Given the description of an element on the screen output the (x, y) to click on. 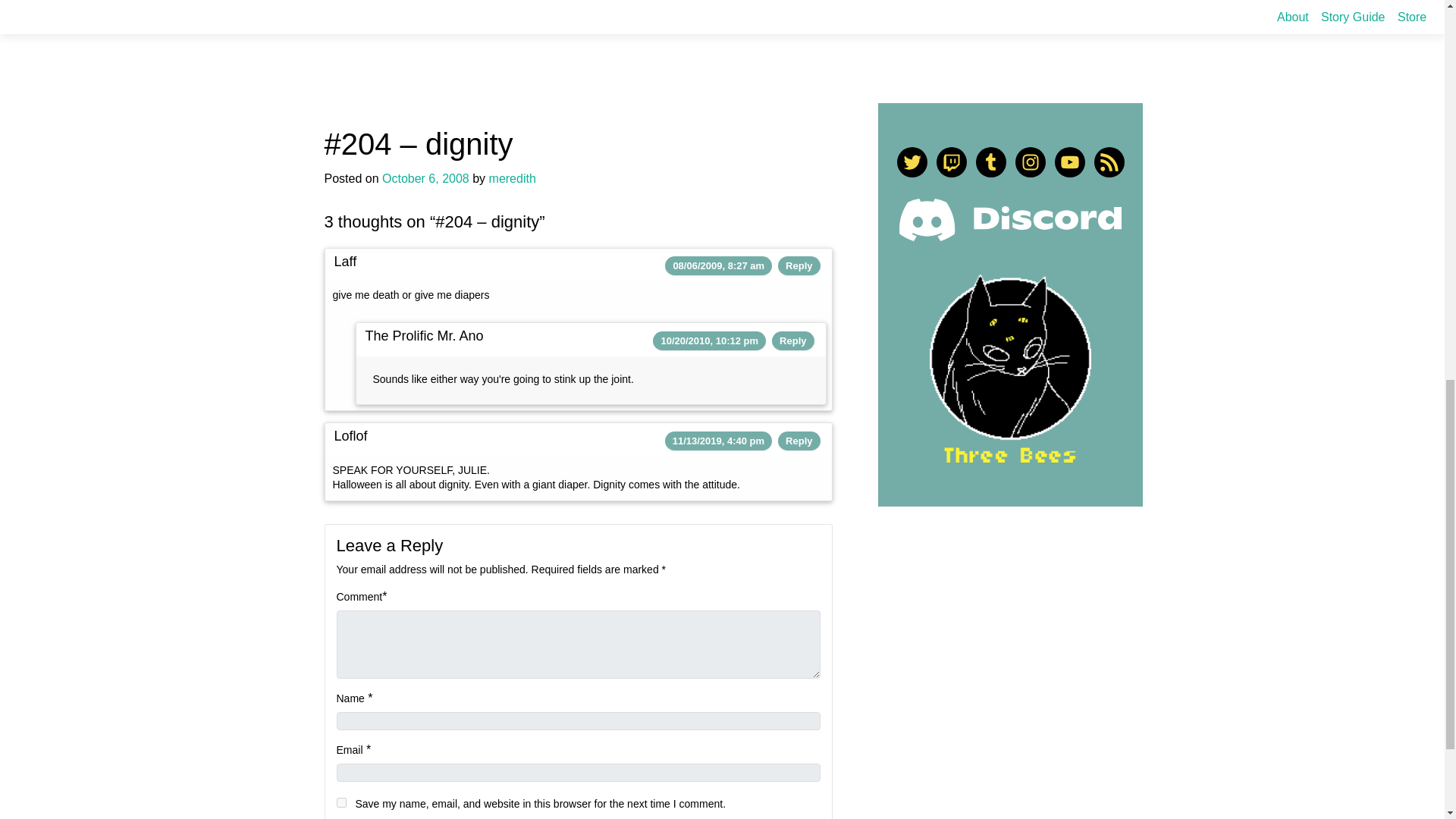
meredith (512, 178)
YouTube (1069, 162)
Twitter (911, 162)
Perfect Tides: Station to Station - Demo Out NOW! (762, 4)
Instagram (1029, 162)
RSS Feed (1108, 162)
Reply (792, 340)
yes (341, 802)
Twitch (951, 162)
Reply (799, 440)
